Given the description of an element on the screen output the (x, y) to click on. 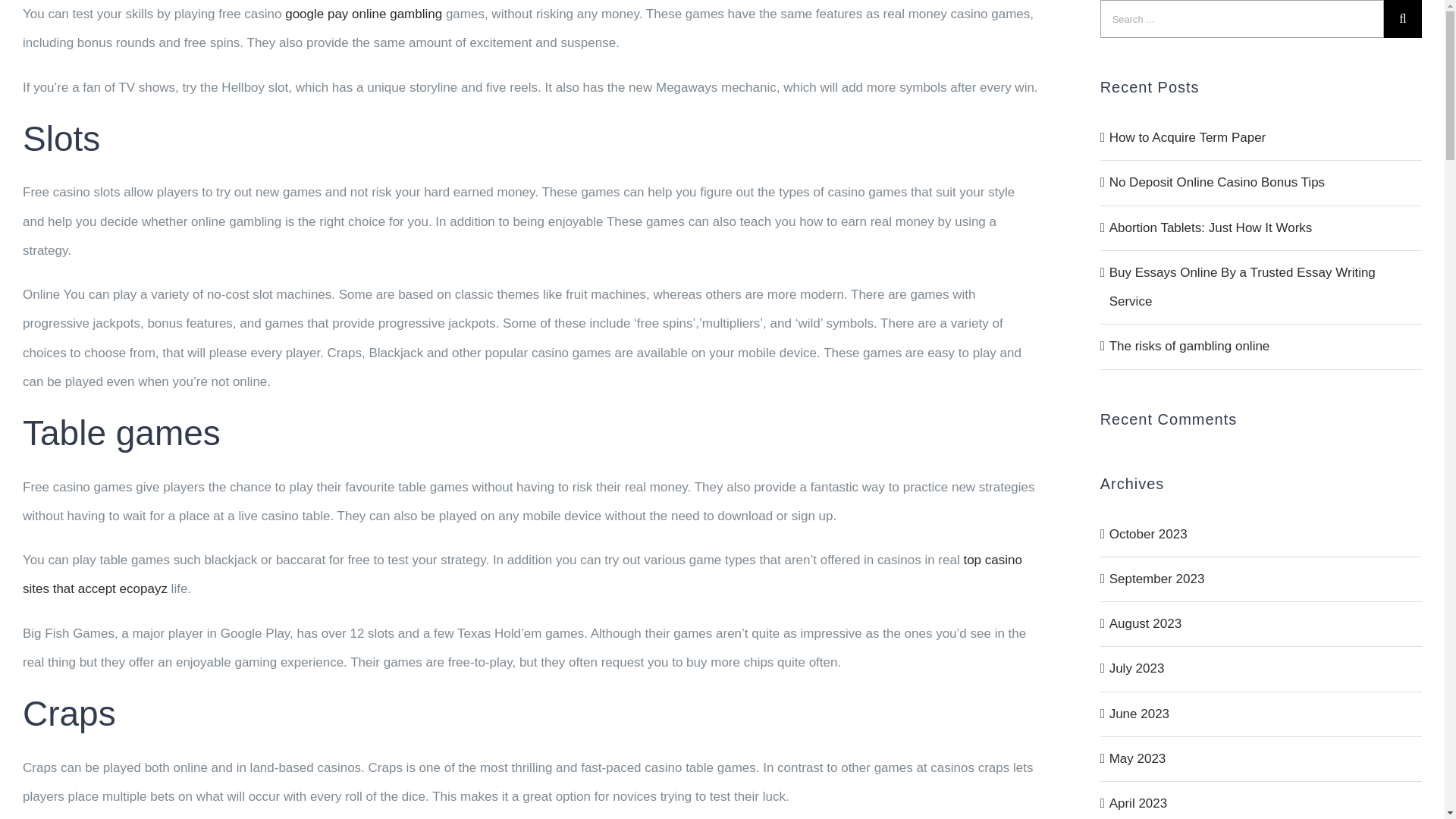
April 2023 (1138, 803)
October 2023 (1148, 533)
top casino sites that accept ecopayz (522, 574)
September 2023 (1157, 578)
No Deposit Online Casino Bonus Tips (1216, 182)
June 2023 (1139, 713)
Abortion Tablets: Just How It Works (1211, 227)
The risks of gambling online (1189, 345)
July 2023 (1136, 667)
May 2023 (1137, 758)
August 2023 (1144, 623)
Buy Essays Online By a Trusted Essay Writing Service (1242, 286)
google pay online gambling (363, 13)
How to Acquire Term Paper (1187, 137)
